Given the description of an element on the screen output the (x, y) to click on. 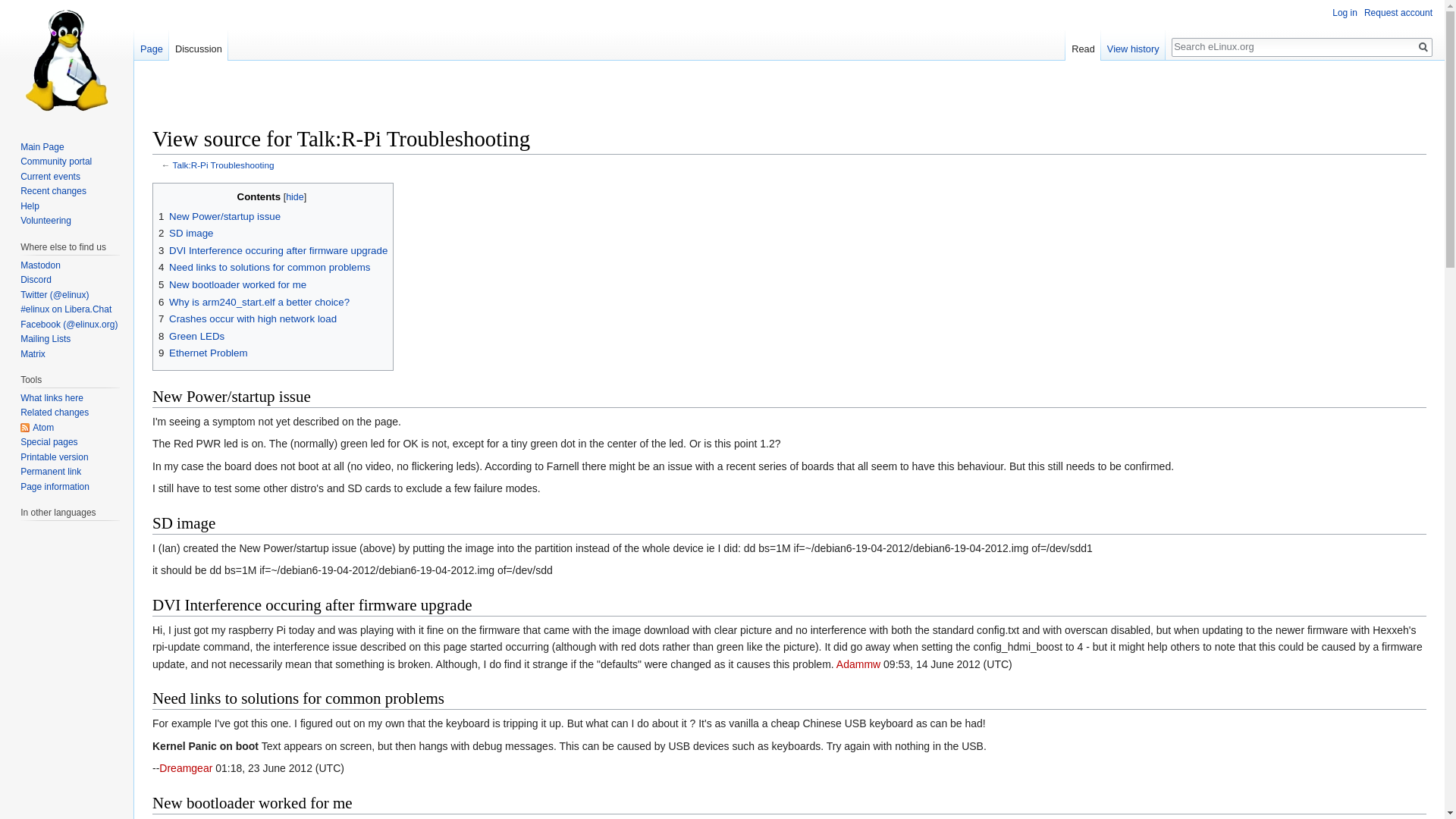
7 Crashes occur with high network load (247, 318)
Go (1423, 46)
3 DVI Interference occuring after firmware upgrade (272, 250)
4 Need links to solutions for common problems (263, 266)
2 SD image (185, 233)
hide (294, 196)
9 Ethernet Problem (202, 352)
Go (1423, 46)
Adammw (857, 664)
Dreamgear (185, 767)
5 New bootloader worked for me (231, 284)
Talk:R-Pi Troubleshooting (224, 164)
8 Green LEDs (191, 336)
Talk:R-Pi Troubleshooting (224, 164)
